Given the description of an element on the screen output the (x, y) to click on. 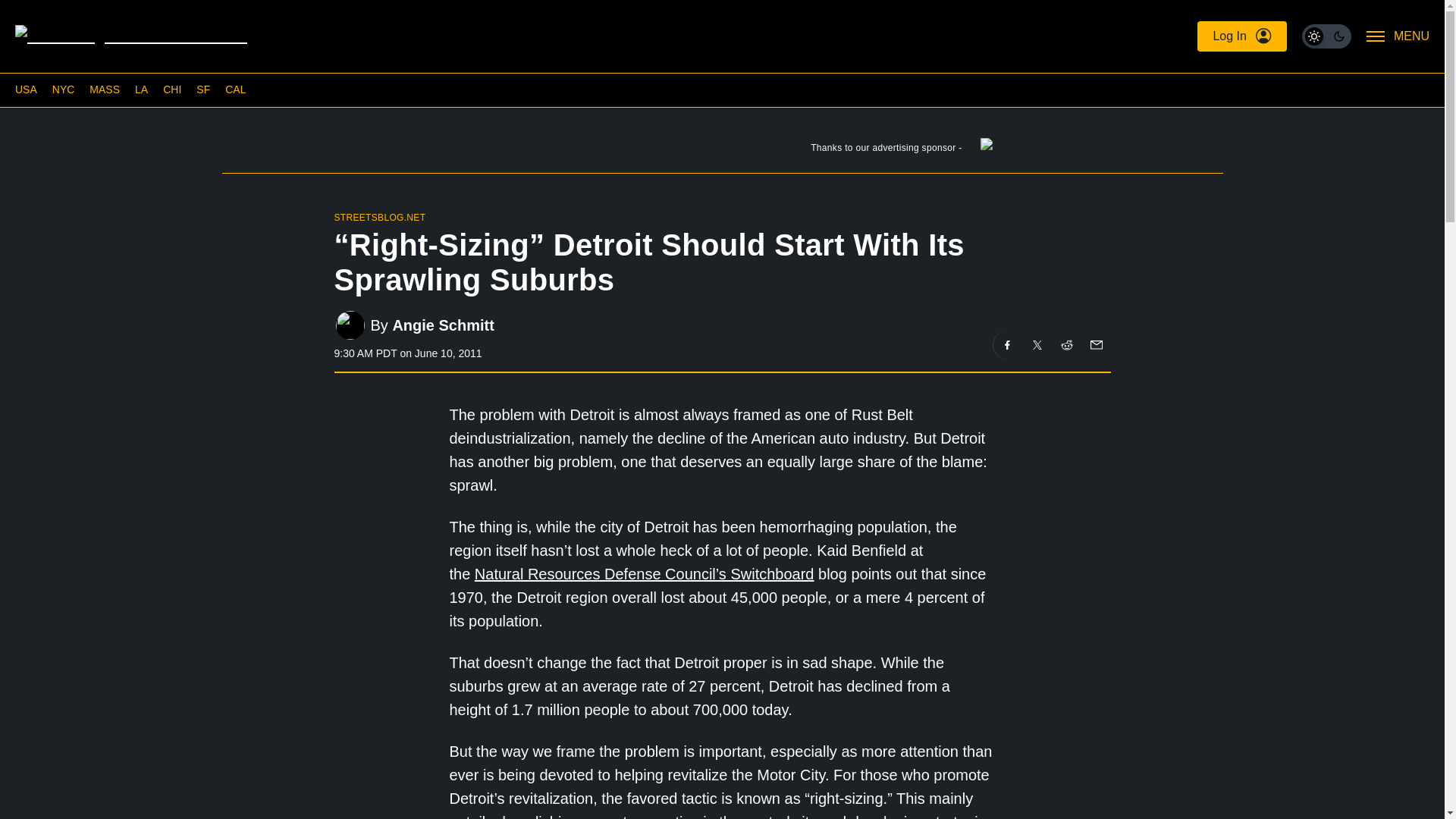
Share on Facebook (1007, 344)
STREETSBLOG.NET (379, 217)
MASS (103, 89)
USA (25, 89)
Log In (1240, 36)
NYC (63, 89)
MENU (1398, 36)
CAL (235, 89)
Share on Reddit (1066, 344)
Share on Email (1095, 344)
Angie Schmitt (442, 325)
Thanks to our advertising sponsor - (721, 150)
CHI (171, 89)
